Given the description of an element on the screen output the (x, y) to click on. 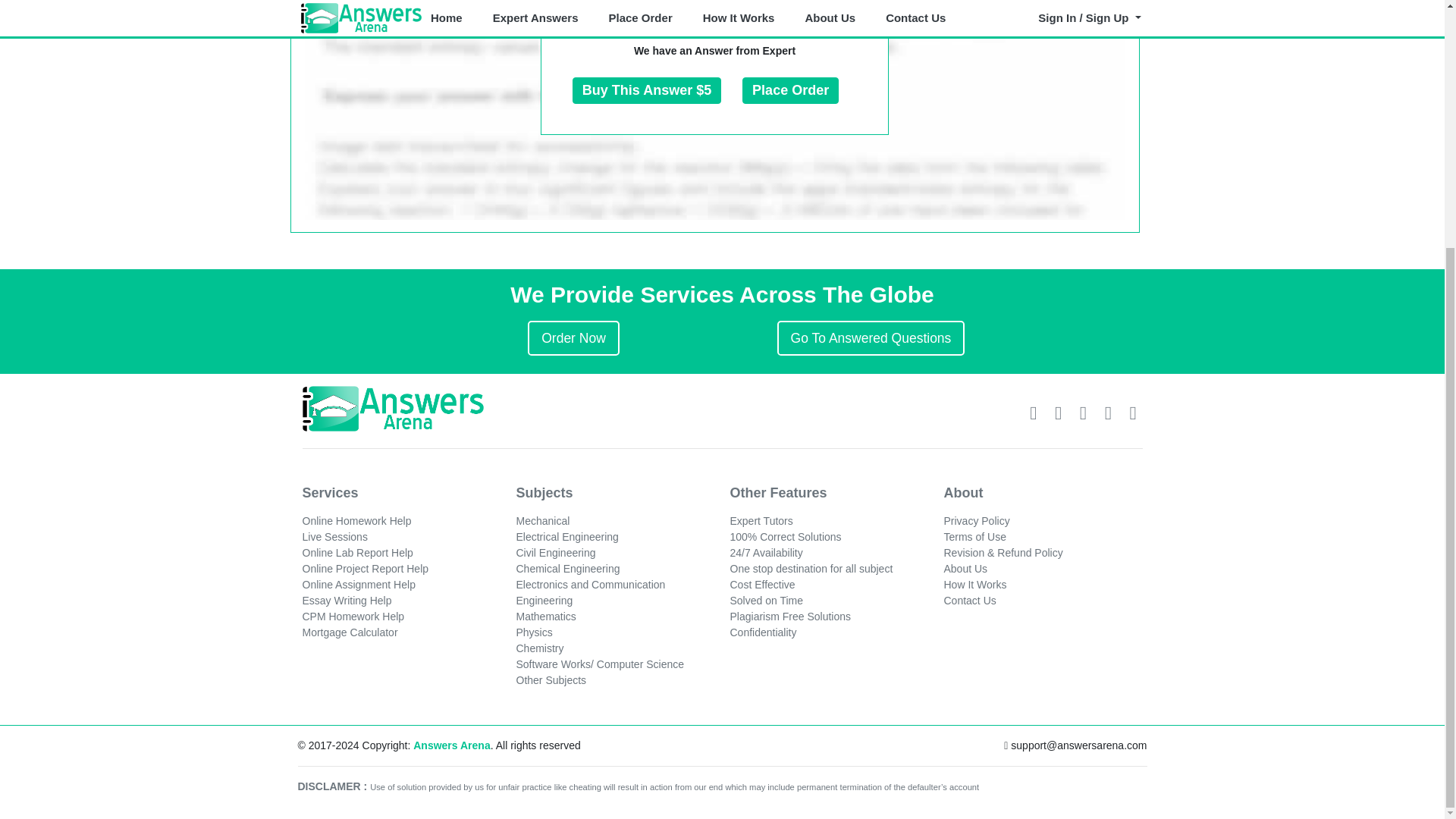
Privacy Policy (976, 521)
Online Lab Report Help (356, 552)
CPM Homework Help (352, 616)
Online Project Report Help (364, 568)
Contact Us (969, 600)
Order Now (573, 338)
About Us (965, 568)
Online Homework Help (355, 521)
Place Order (790, 90)
Essay Writing Help (346, 600)
Go To Answered Questions (871, 338)
Mortgage Calculator (349, 632)
Terms of Use (974, 536)
Online Assignment Help (357, 584)
Live Sessions (333, 536)
